Given the description of an element on the screen output the (x, y) to click on. 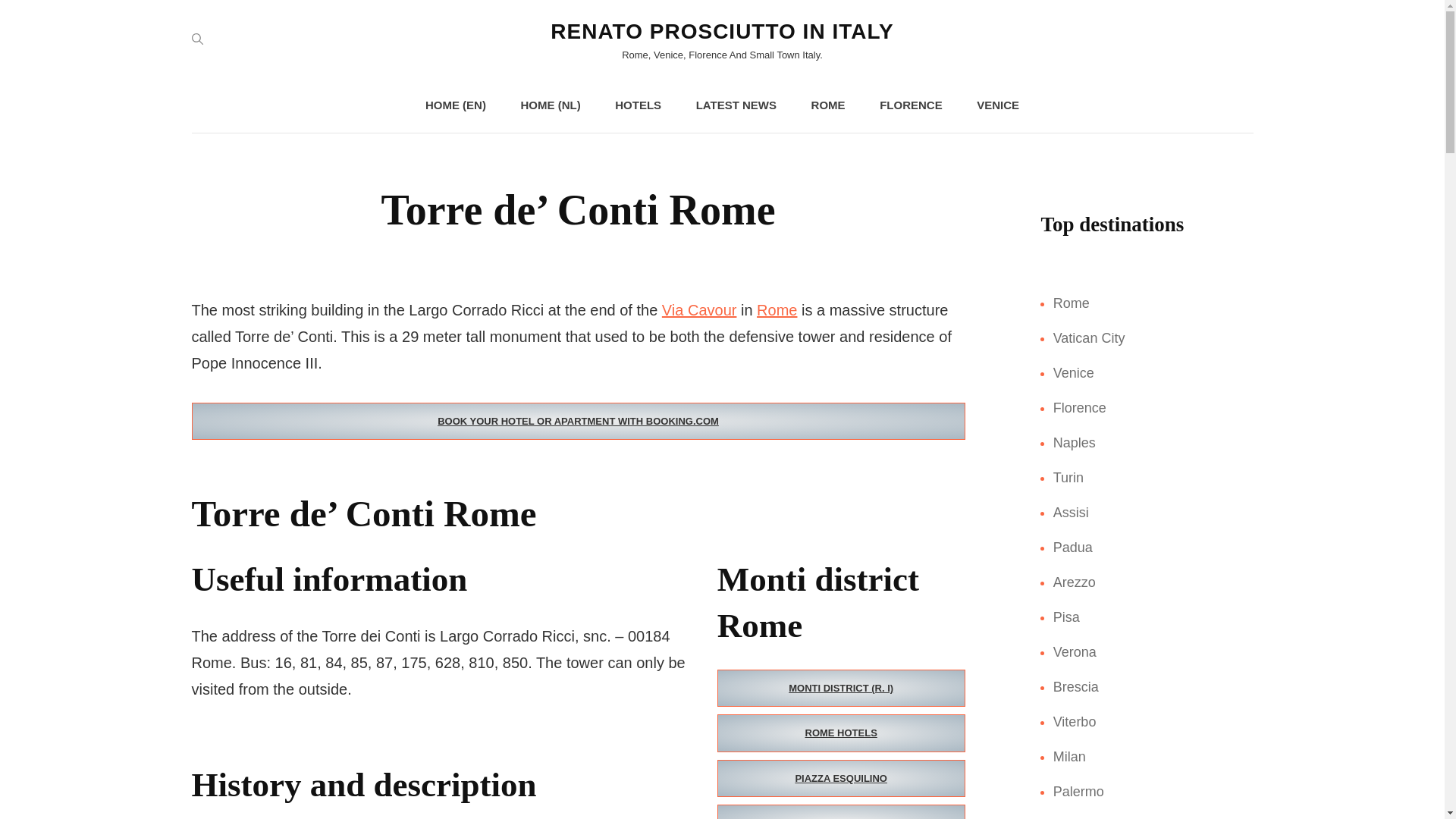
LATEST NEWS (736, 104)
FLORENCE (911, 104)
RENATO PROSCIUTTO IN ITALY (721, 31)
ROME HOTELS (841, 733)
ROME (828, 104)
HOTELS (638, 104)
BOOK YOUR HOTEL OR APARTMENT WITH BOOKING.COM (576, 421)
Rome (776, 310)
PIAZZA ESQUILINO (841, 778)
Via Cavour (699, 310)
VIA URBANA (841, 811)
VENICE (996, 104)
